Given the description of an element on the screen output the (x, y) to click on. 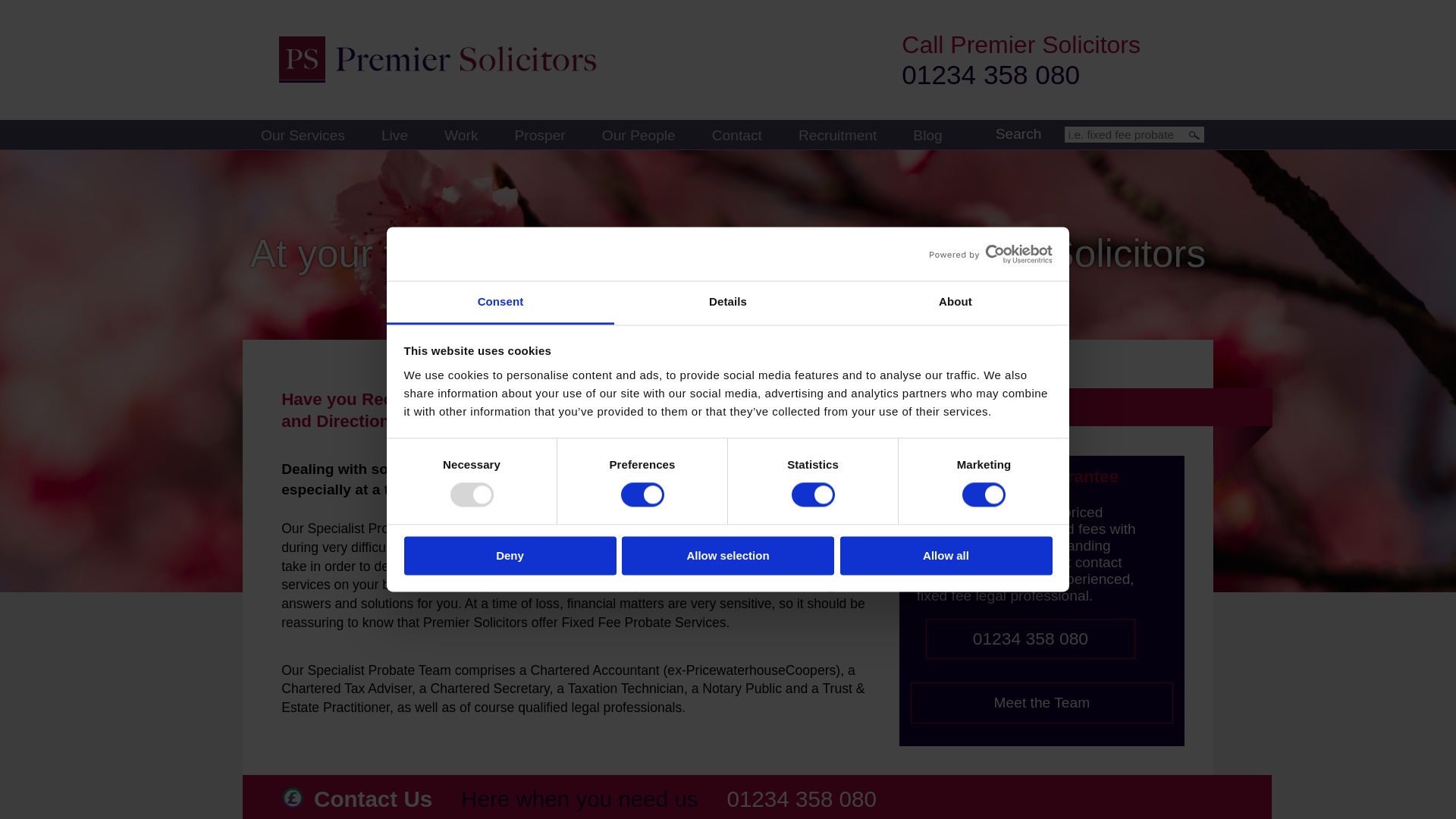
Fixed Fee Probate (1035, 406)
Live (388, 134)
01234 358 080 (1024, 639)
01234 358 080 (985, 74)
Our Services (295, 134)
01234 358 080 (795, 798)
Meet the Team (1036, 702)
